Given the description of an element on the screen output the (x, y) to click on. 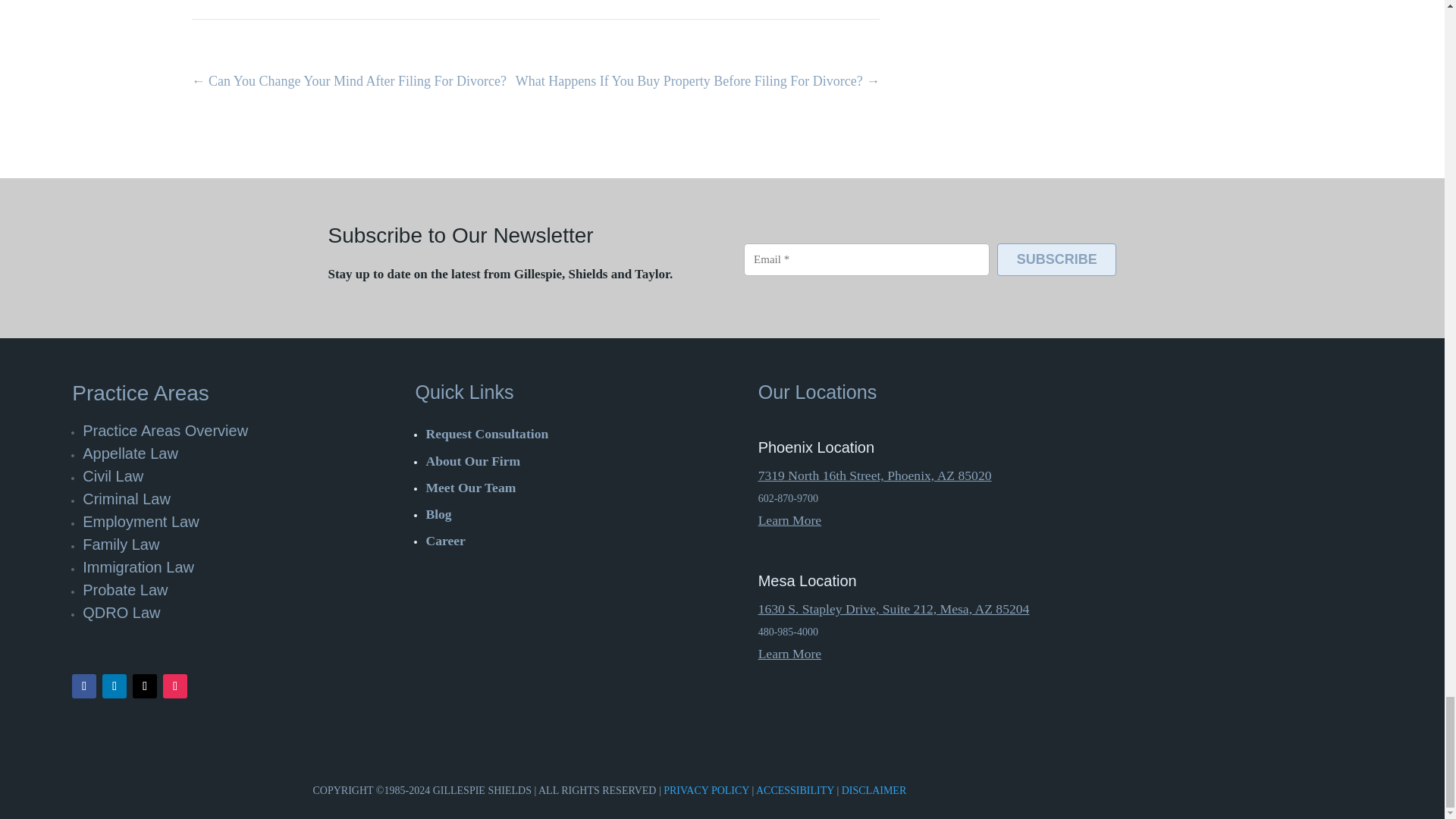
Follow on X (144, 686)
Follow on Instagram (175, 686)
Follow on LinkedIn (113, 686)
Subscribe (1056, 259)
Follow on Facebook (83, 686)
